Given the description of an element on the screen output the (x, y) to click on. 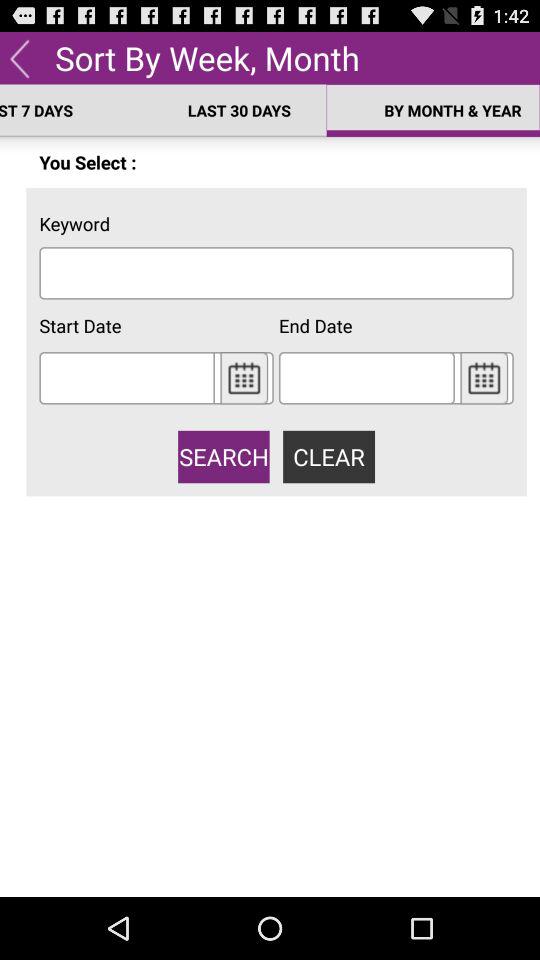
go back (19, 57)
